Given the description of an element on the screen output the (x, y) to click on. 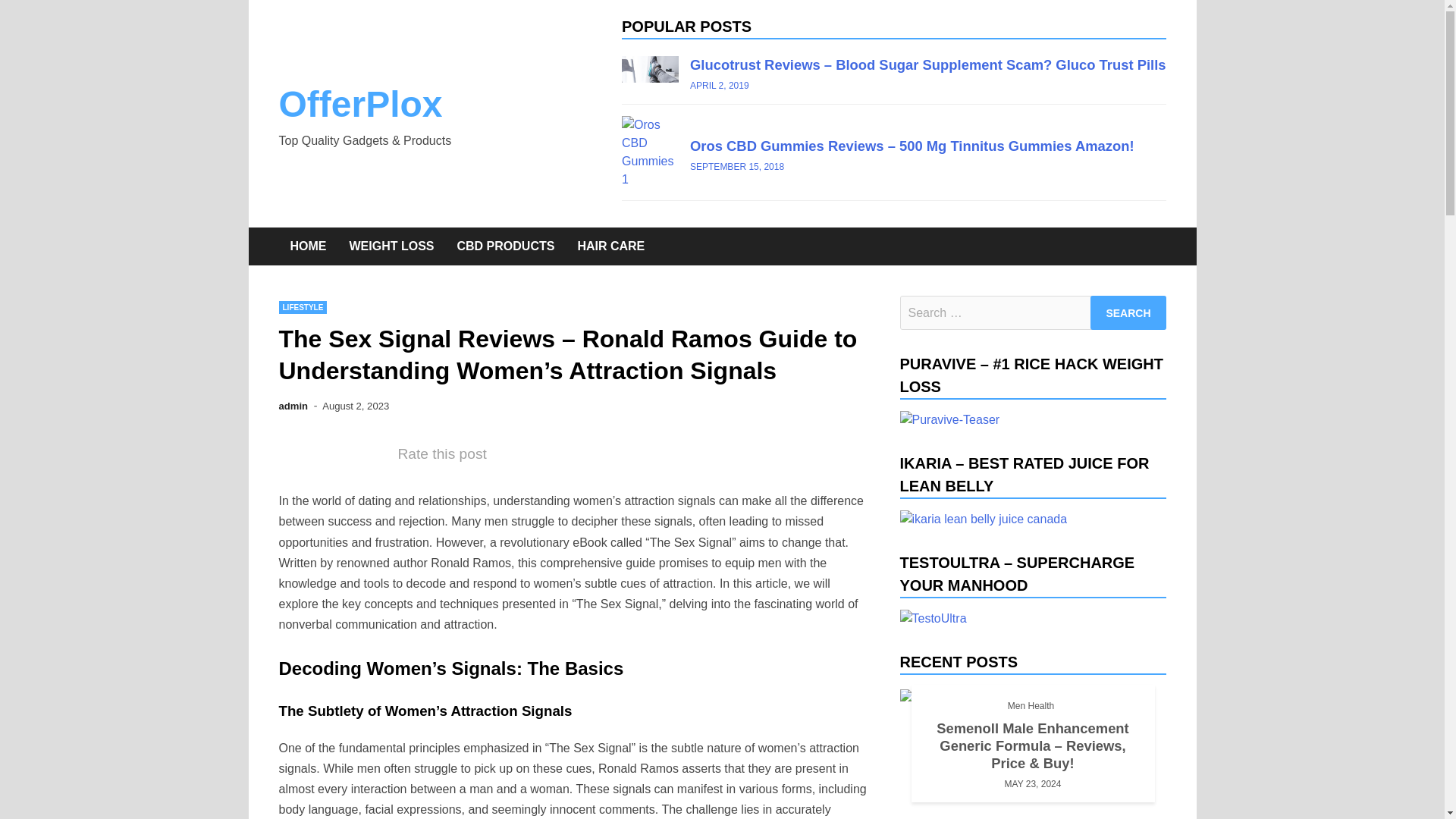
MAY 23, 2024 (1032, 783)
Men Health (1030, 705)
Ikaria - Best Rated Juice for Lean Belly (983, 519)
APRIL 2, 2019 (719, 85)
admin (293, 405)
HOME (308, 246)
HAIR CARE (611, 246)
SEPTEMBER 15, 2018 (737, 165)
Search (1128, 312)
Search (1128, 312)
Search (1128, 312)
LIFESTYLE (303, 307)
CBD PRODUCTS (505, 246)
OfferPlox (360, 104)
TestoUltra - SuperCharge Your Manhood (932, 618)
